Given the description of an element on the screen output the (x, y) to click on. 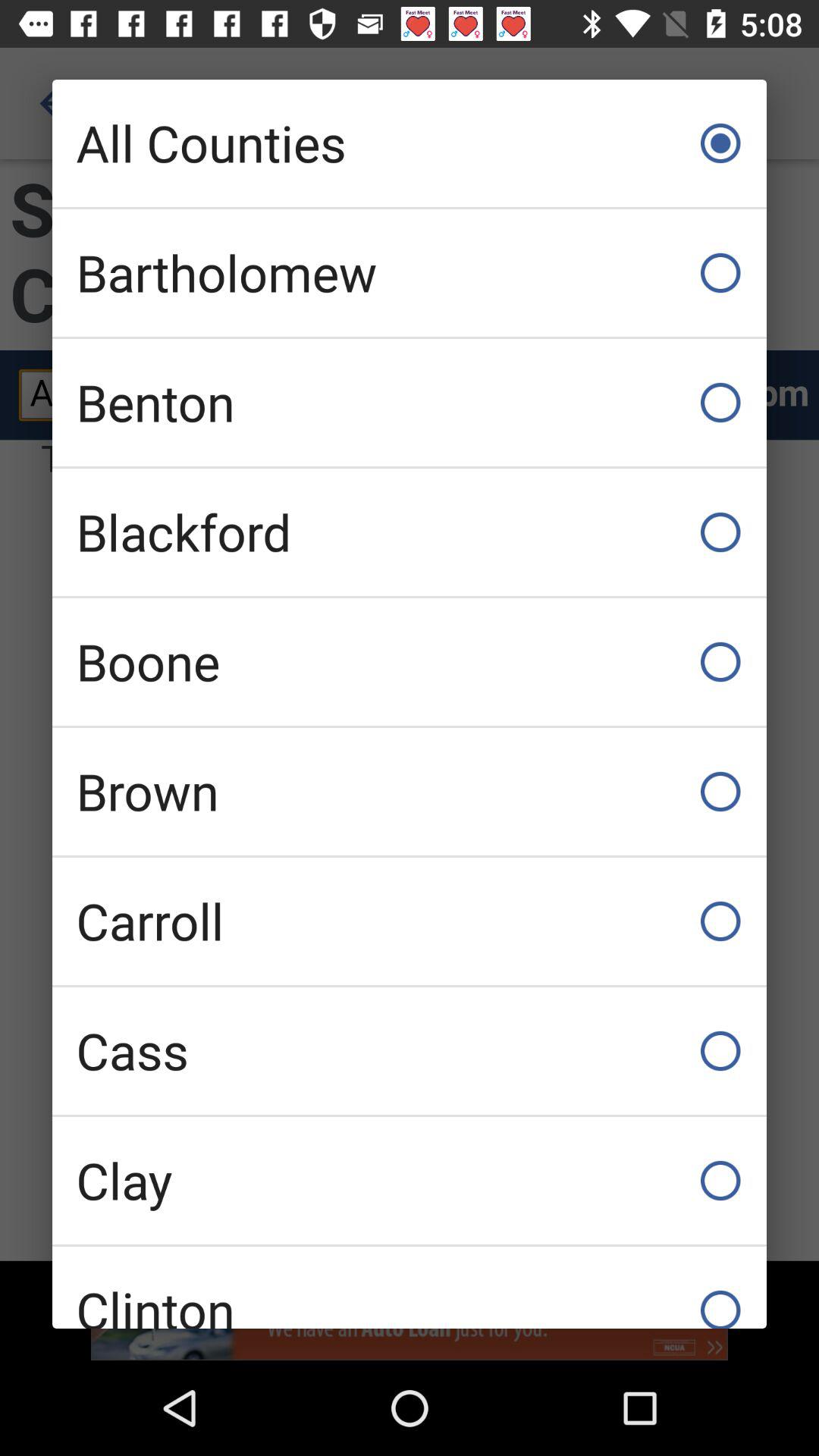
press carroll item (409, 921)
